Given the description of an element on the screen output the (x, y) to click on. 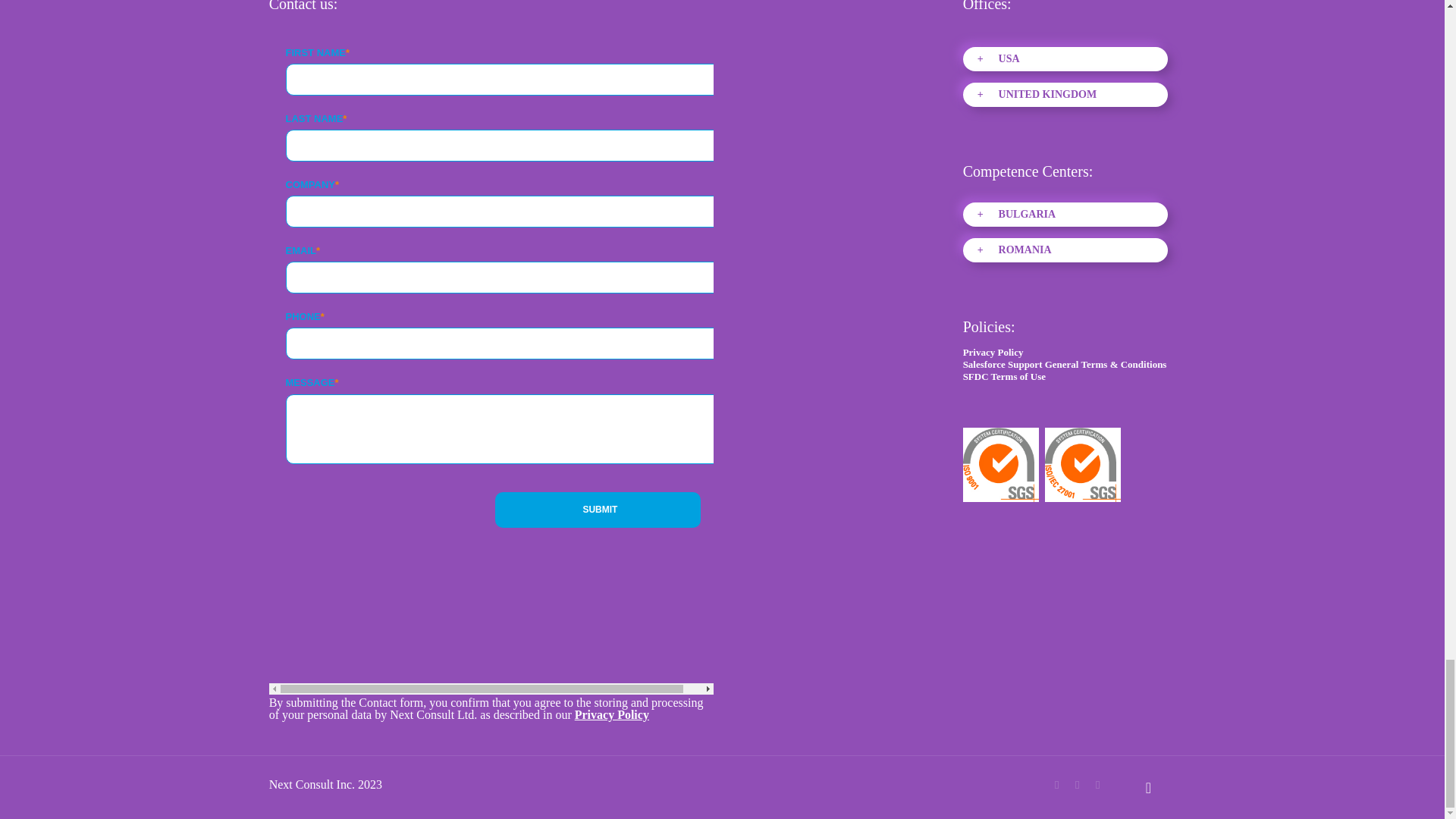
LinkedIn (1097, 784)
Facebook (1056, 784)
Twitter (1076, 784)
